Given the description of an element on the screen output the (x, y) to click on. 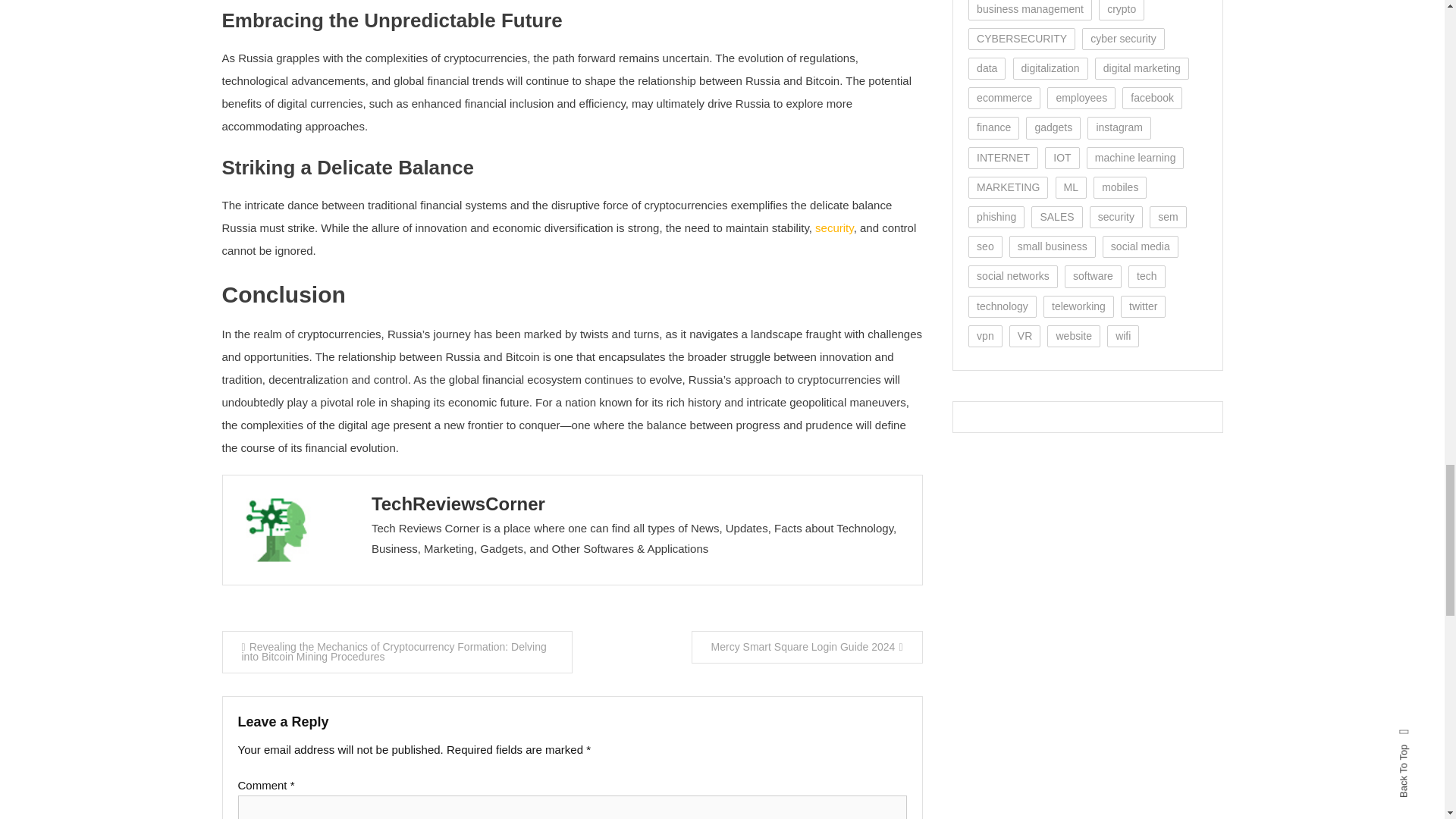
Posts by TechReviewsCorner (457, 503)
